Given the description of an element on the screen output the (x, y) to click on. 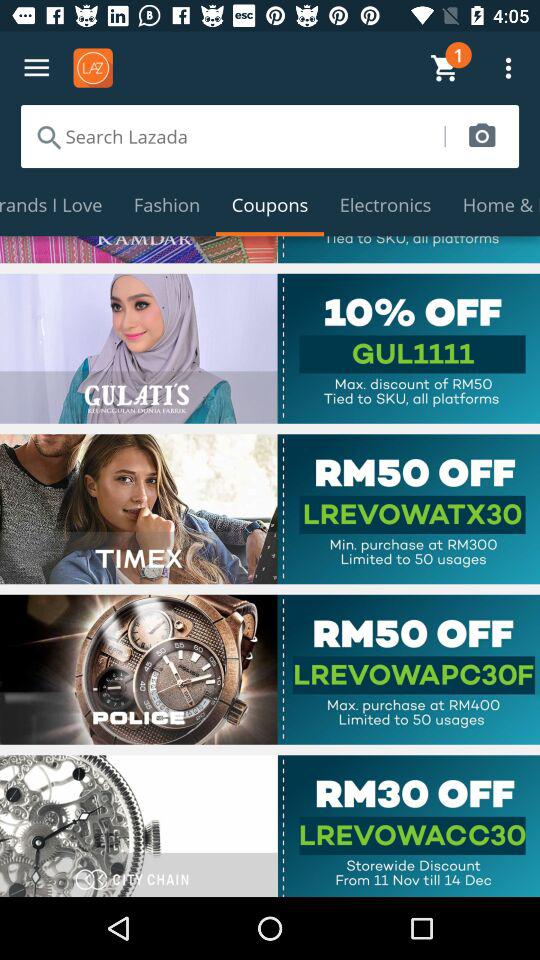
more options (36, 68)
